Given the description of an element on the screen output the (x, y) to click on. 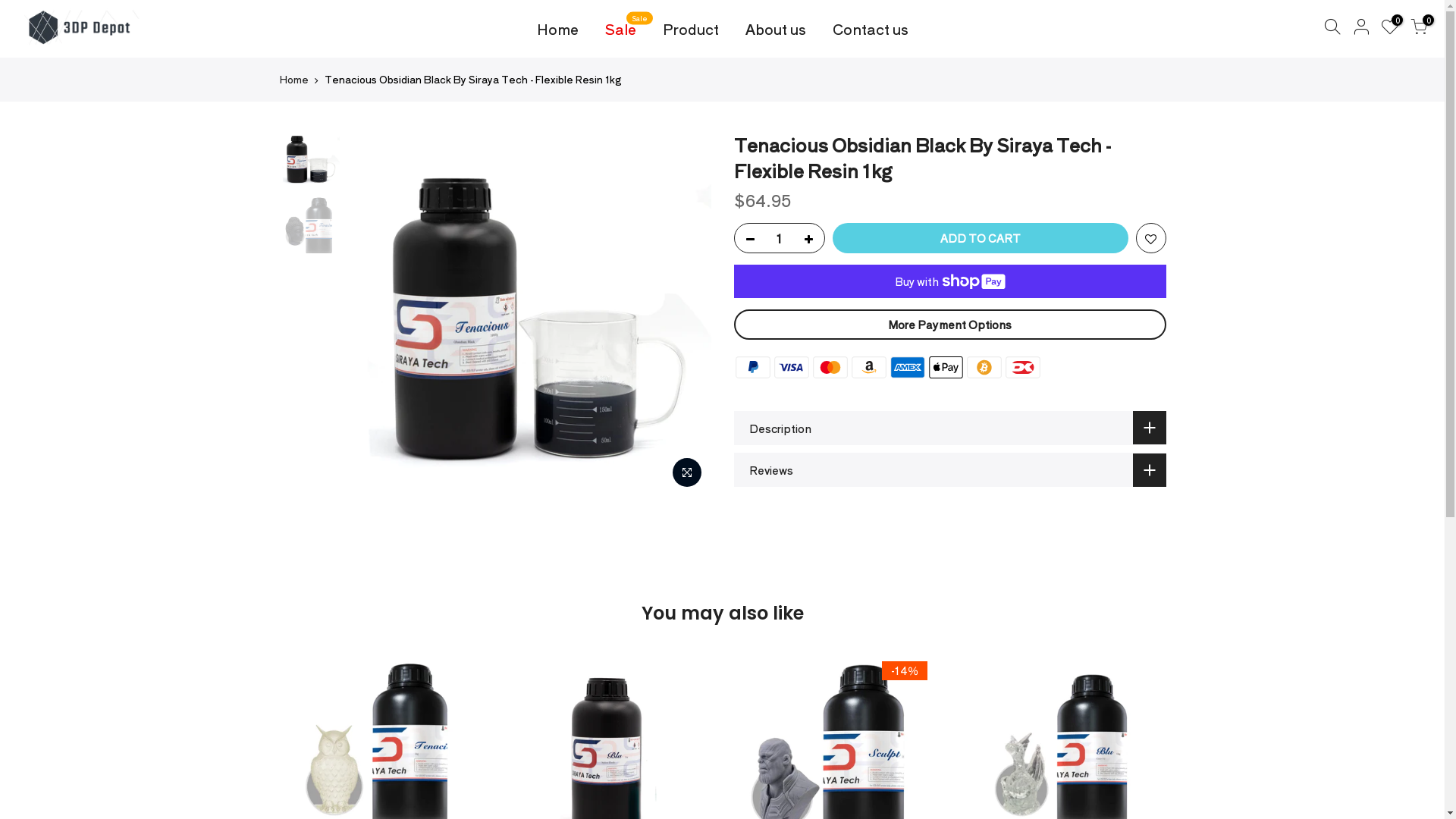
About us Element type: text (775, 28)
Home Element type: text (557, 28)
Sale
Sale Element type: text (620, 28)
ADD TO CART Element type: text (980, 237)
Reviews Element type: text (950, 469)
0 Element type: text (1418, 28)
0 Element type: text (1389, 28)
More Payment Options Element type: text (950, 324)
Home Element type: text (293, 79)
Product Element type: text (690, 28)
Description Element type: text (950, 428)
Contact us Element type: text (870, 28)
